Given the description of an element on the screen output the (x, y) to click on. 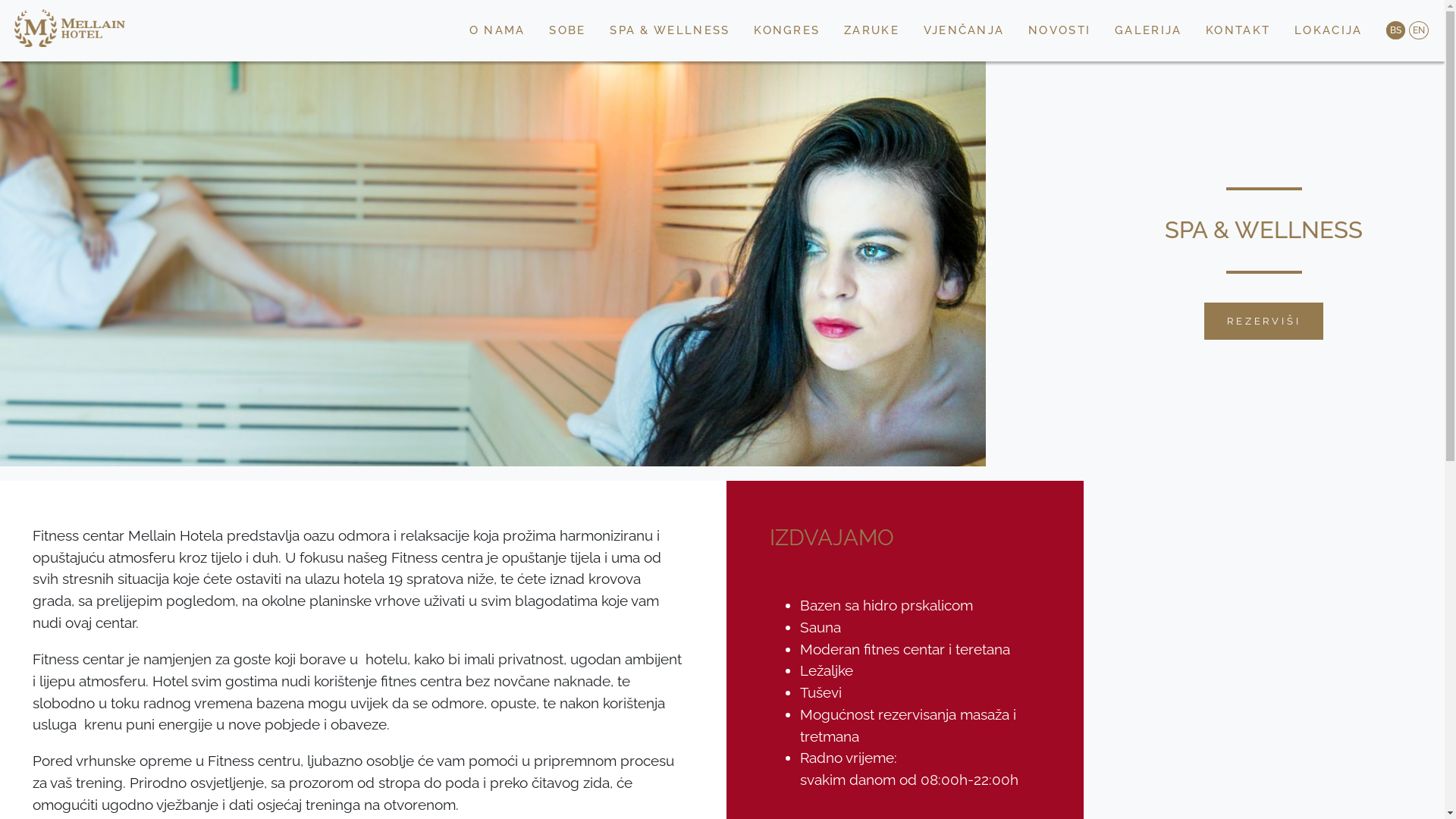
O NAMA Element type: text (496, 30)
ZARUKE Element type: text (871, 30)
KONGRES Element type: text (786, 30)
GALERIJA Element type: text (1148, 30)
EN Element type: text (1418, 30)
SPA & WELLNESS Element type: text (669, 30)
BS Element type: text (1395, 30)
NOVOSTI Element type: text (1059, 30)
SOBE Element type: text (567, 30)
LOKACIJA Element type: text (1328, 30)
KONTAKT Element type: text (1238, 30)
